Given the description of an element on the screen output the (x, y) to click on. 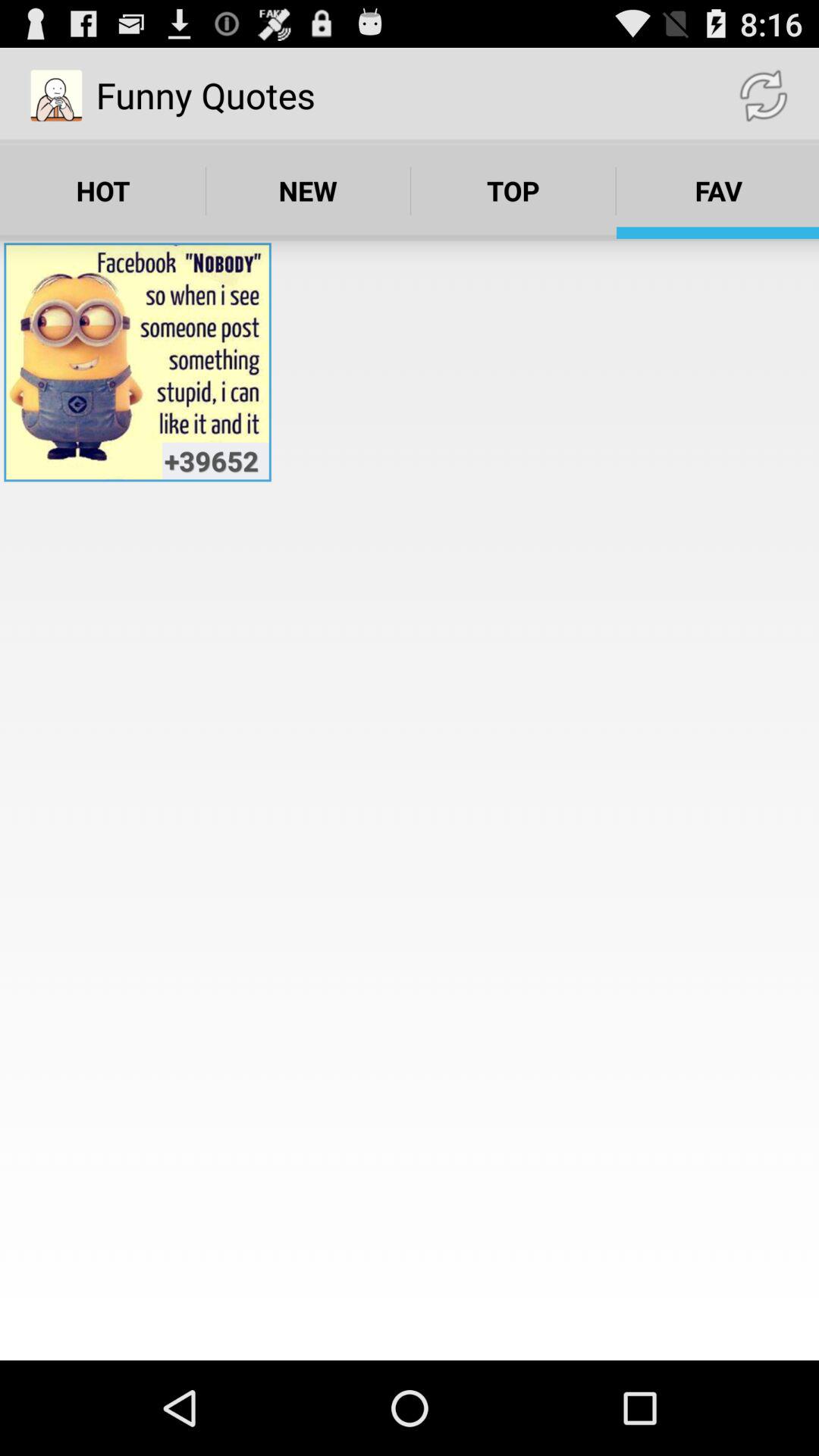
launch app above fav item (763, 95)
